Given the description of an element on the screen output the (x, y) to click on. 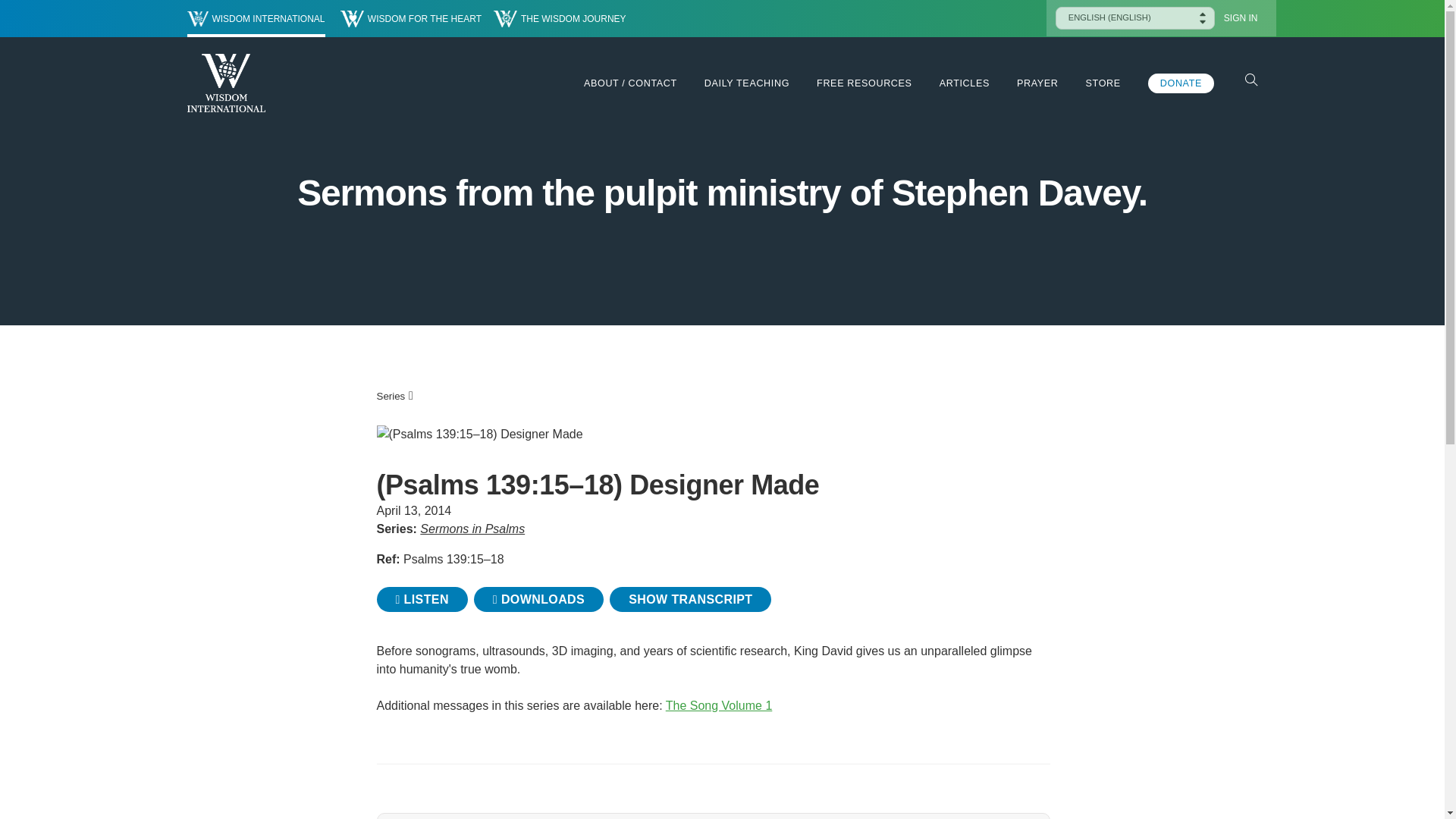
SIGN IN (1240, 18)
DONATE (1181, 83)
The Song Volume 1 (719, 705)
WISDOM FOR THE HEART (410, 18)
SHOW TRANSCRIPT (690, 599)
LISTEN (421, 599)
Sermons in Psalms (472, 529)
Sign In (1240, 18)
FREE RESOURCES (864, 83)
WISDOM INTERNATIONAL (255, 18)
